Given the description of an element on the screen output the (x, y) to click on. 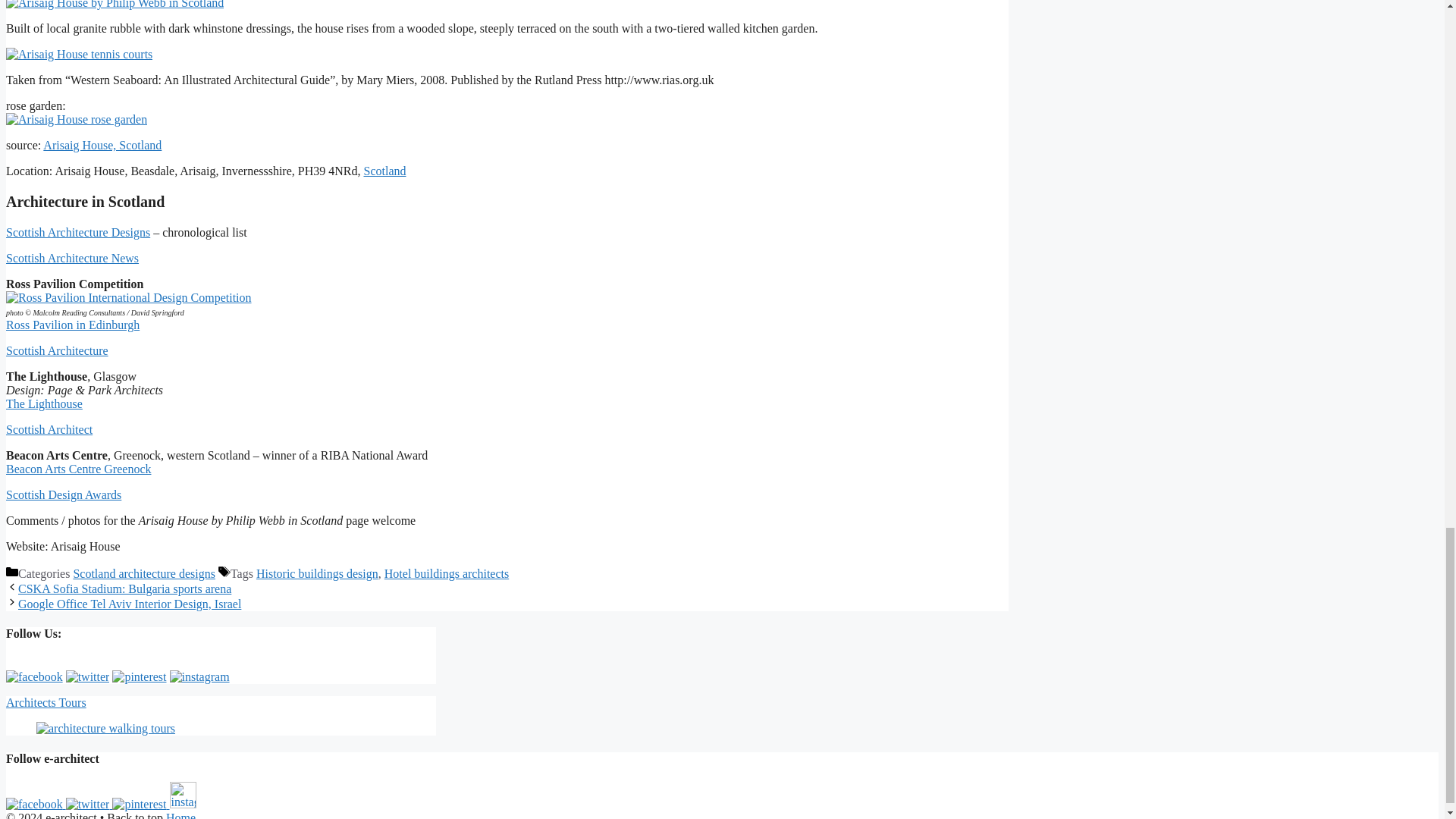
twitter (87, 676)
facebook (33, 676)
linkedin (138, 804)
instagram (183, 795)
Scroll back to top (1406, 8)
facebook (33, 804)
pinterest (138, 676)
twitter (87, 804)
